Given the description of an element on the screen output the (x, y) to click on. 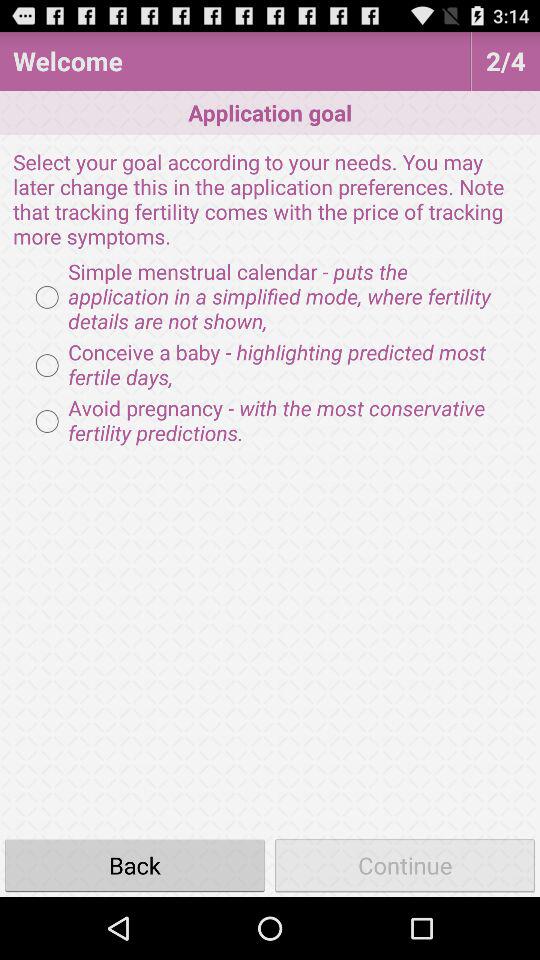
turn on icon below the avoid pregnancy with (135, 864)
